Given the description of an element on the screen output the (x, y) to click on. 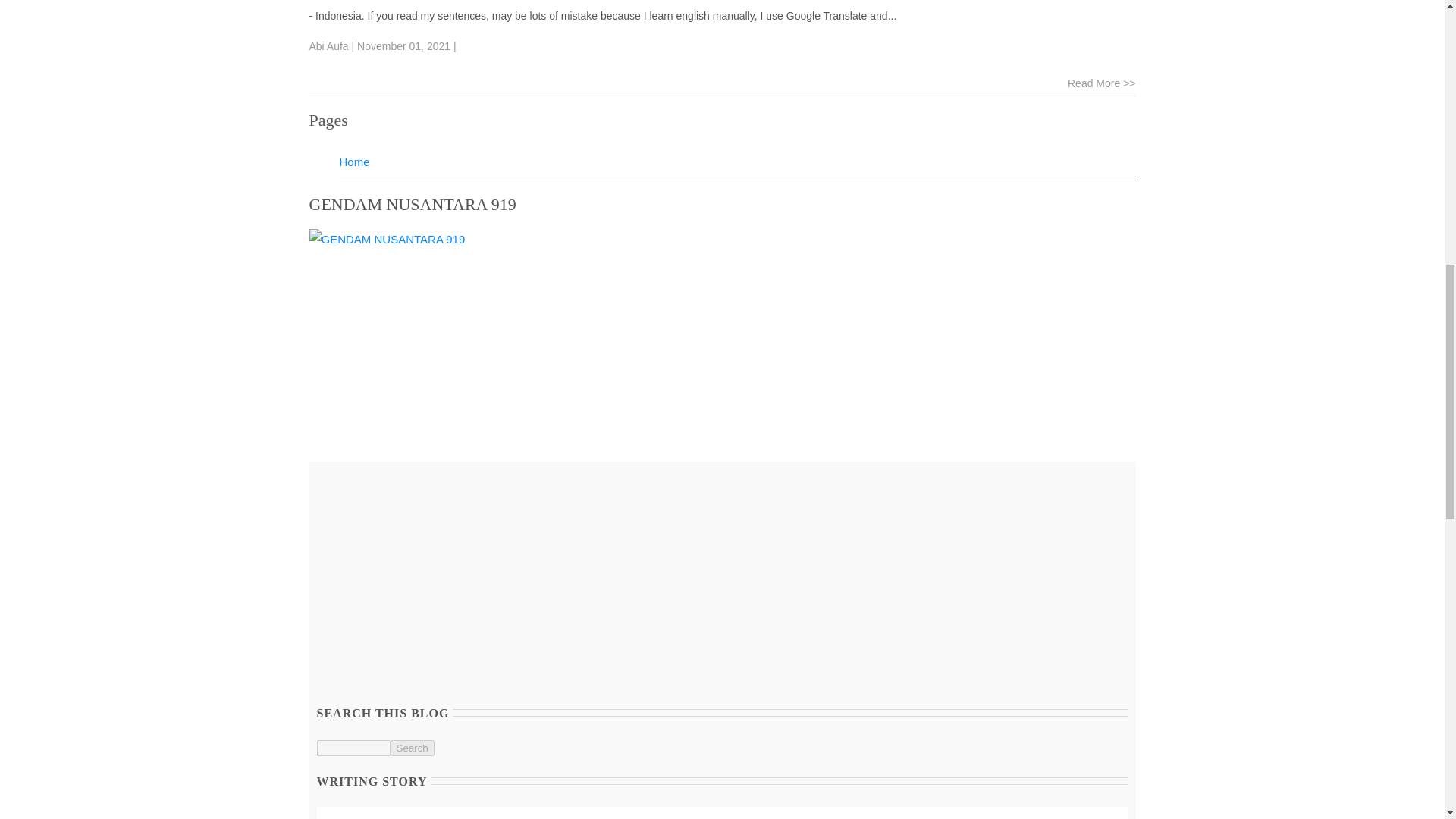
Search (411, 747)
search (353, 747)
author profile (328, 46)
Home (354, 161)
Abi Aufa (328, 46)
search (411, 747)
Search (411, 747)
Search (411, 747)
